Given the description of an element on the screen output the (x, y) to click on. 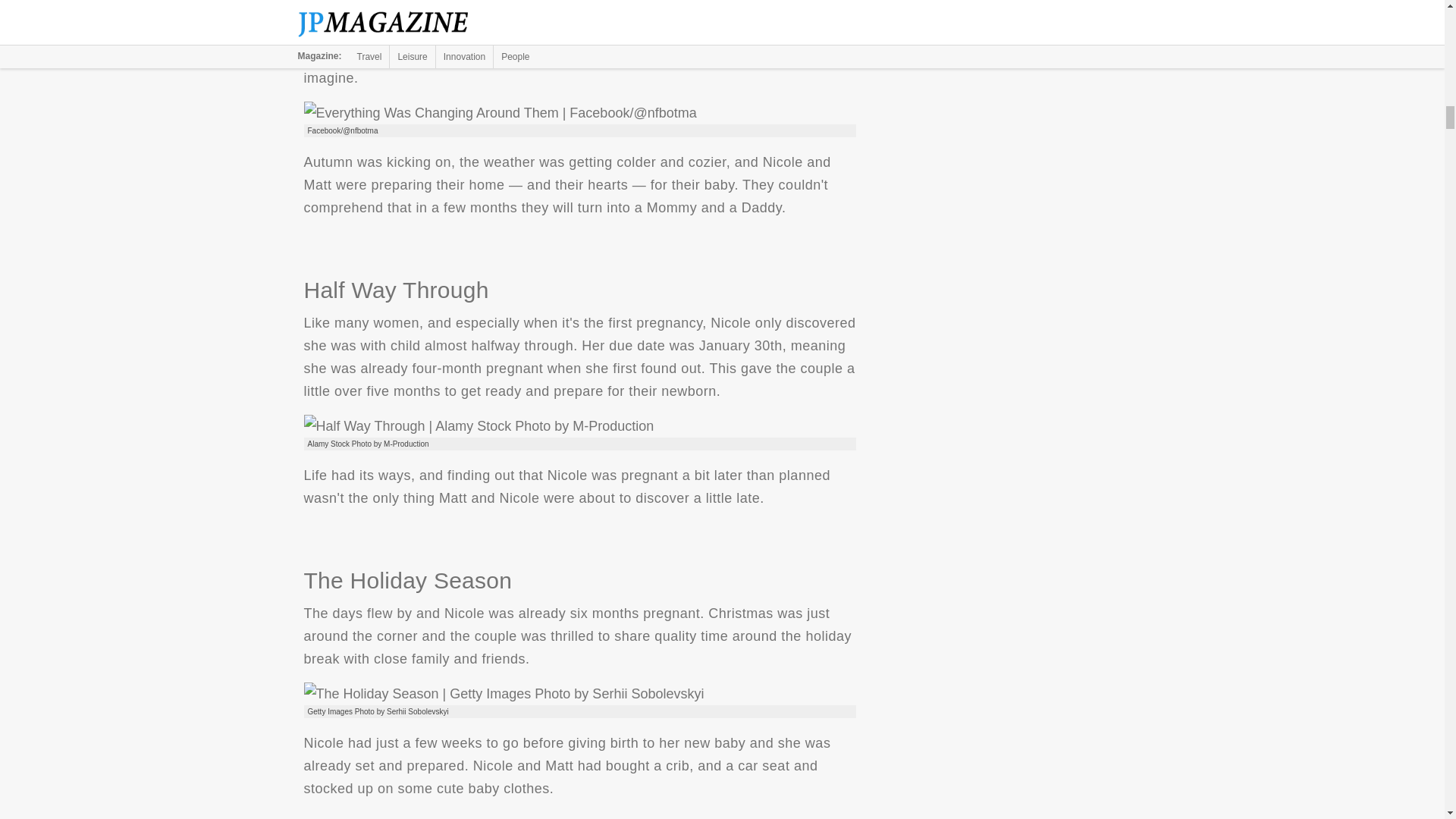
Everything Was Changing Around Them (498, 112)
Half Way Through (477, 425)
The Holiday Season (502, 693)
